Given the description of an element on the screen output the (x, y) to click on. 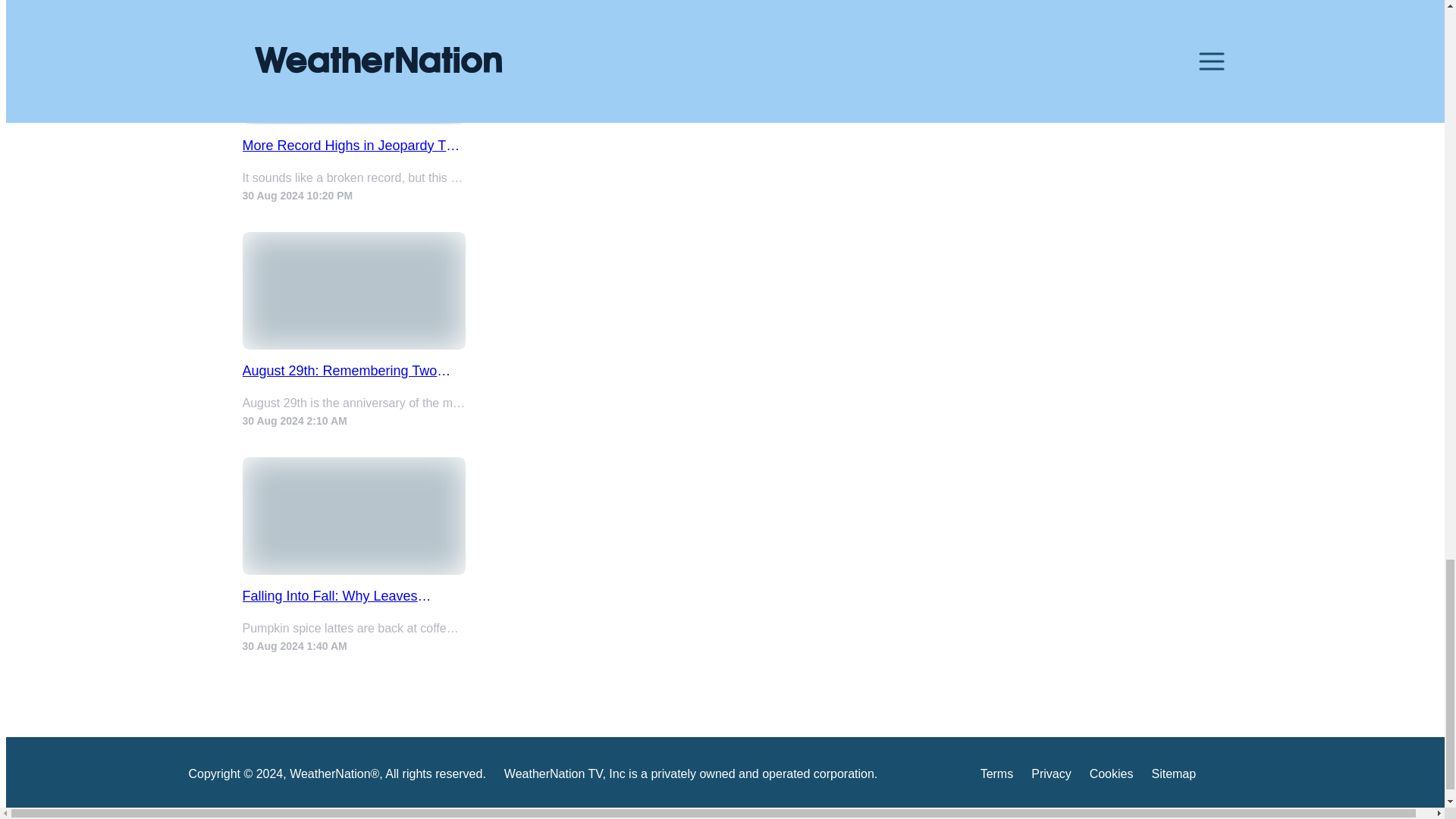
Cookies (1111, 776)
More Record Highs in Jeopardy This Week (354, 145)
Falling Into Fall: Why Leaves Change Color (354, 596)
Terms (996, 776)
Sitemap (1173, 776)
Privacy (1050, 776)
